Given the description of an element on the screen output the (x, y) to click on. 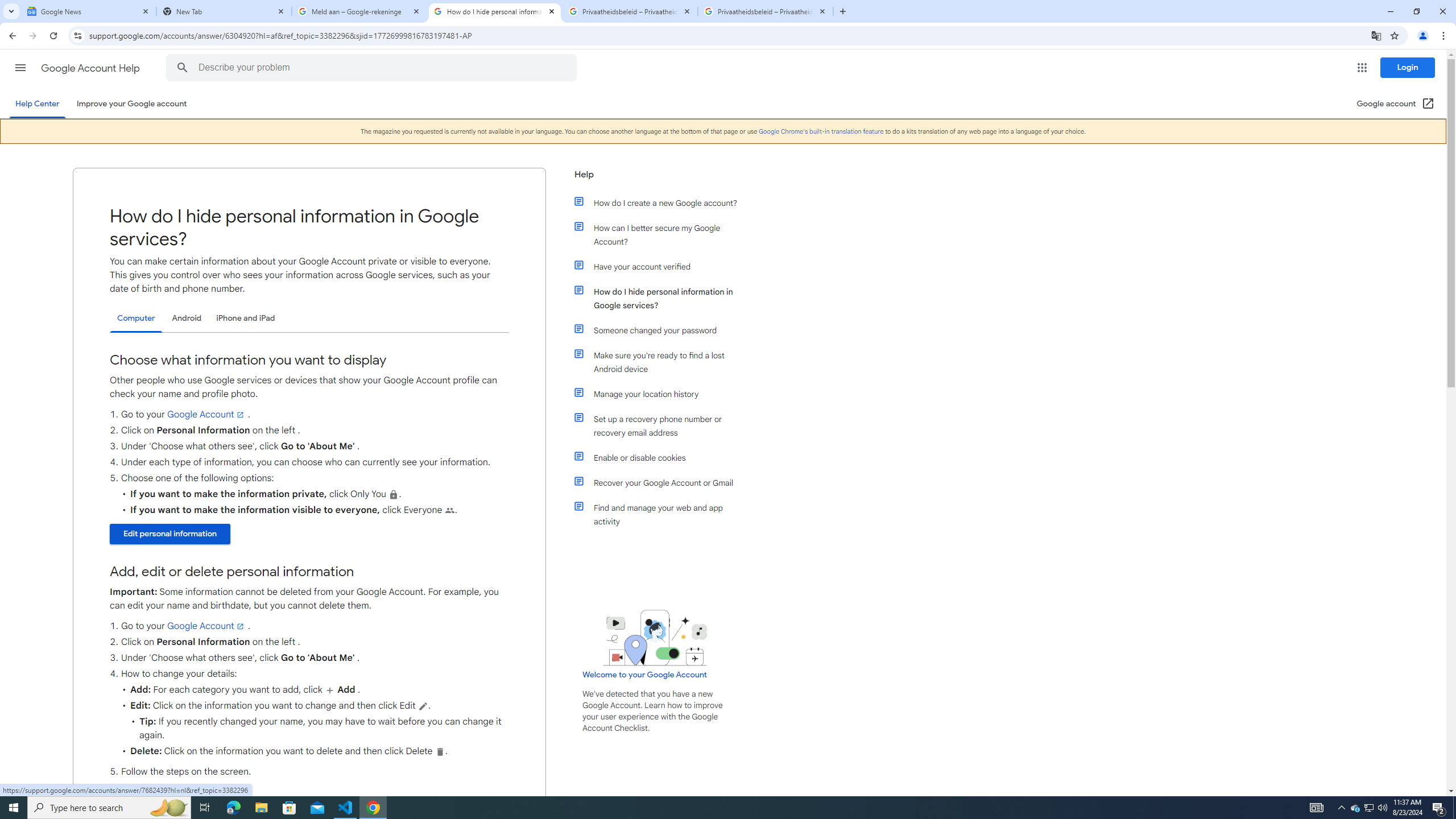
Google News (88, 11)
Describe your problem (373, 67)
Google Account (Opens in new window) (1395, 103)
Have your account verified (661, 266)
Recover your Google Account or Gmail (661, 482)
How can I better secure my Google Account? (661, 234)
Someone changed your password (661, 330)
